Given the description of an element on the screen output the (x, y) to click on. 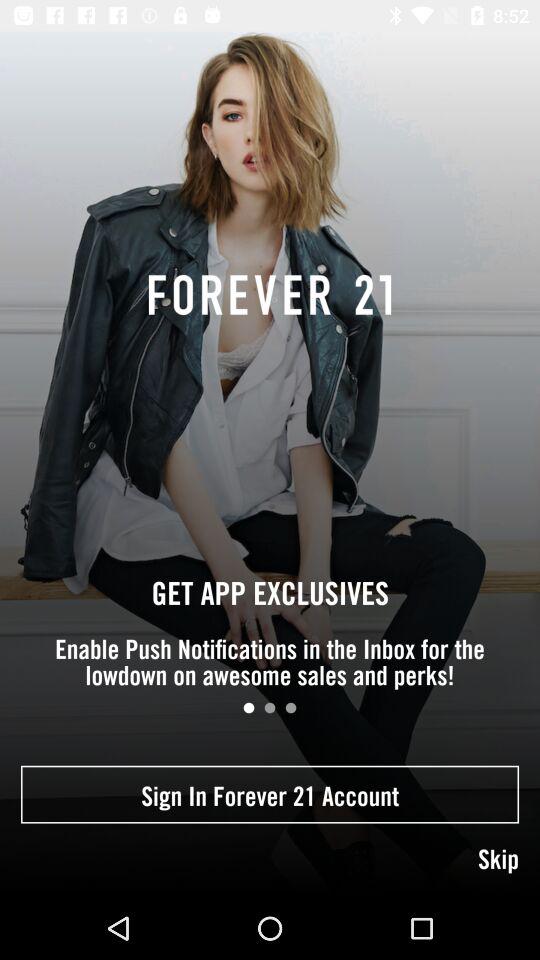
launch icon above skip item (270, 794)
